Given the description of an element on the screen output the (x, y) to click on. 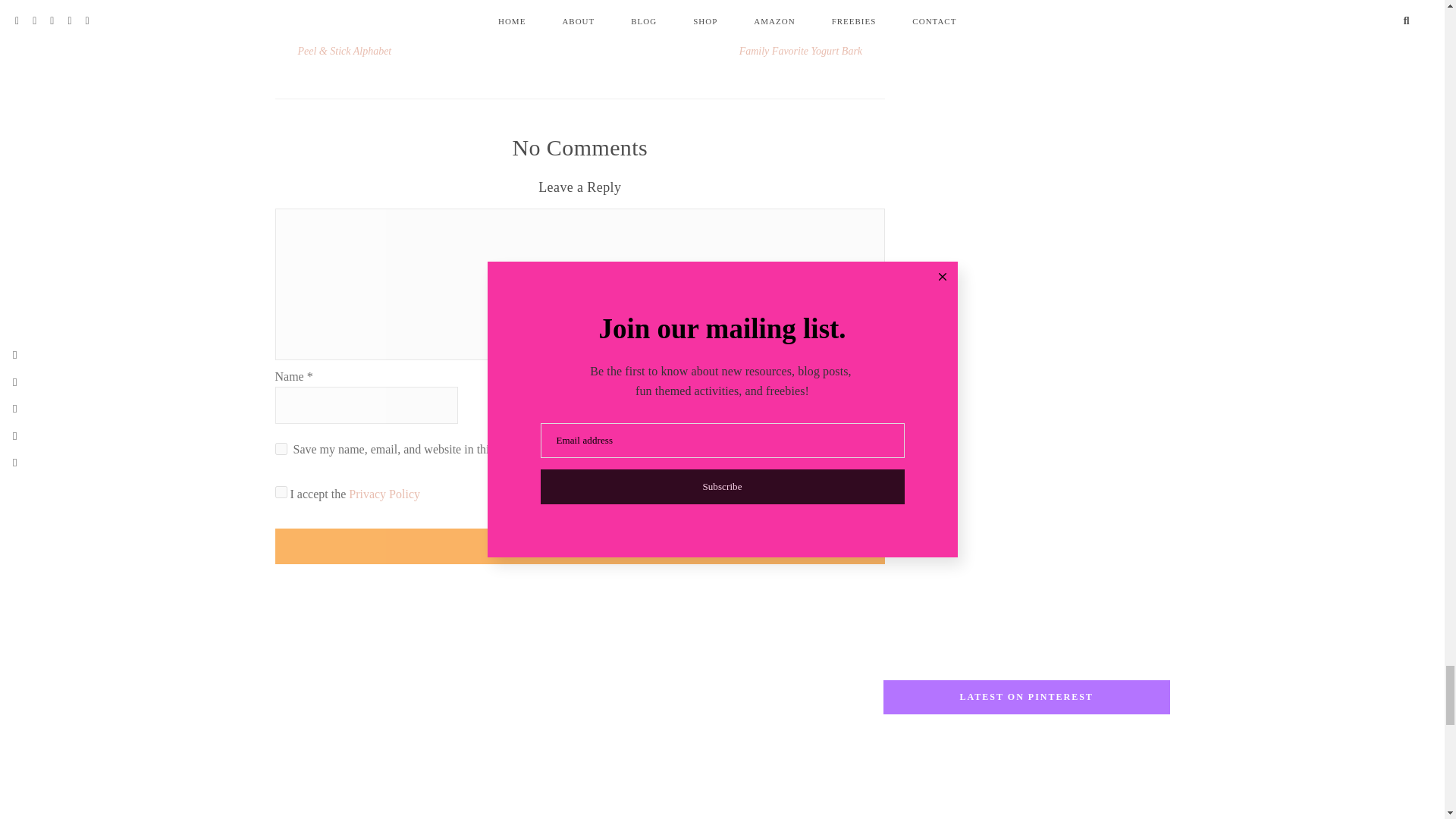
Post Comment (580, 545)
1 (280, 491)
yes (280, 449)
